Given the description of an element on the screen output the (x, y) to click on. 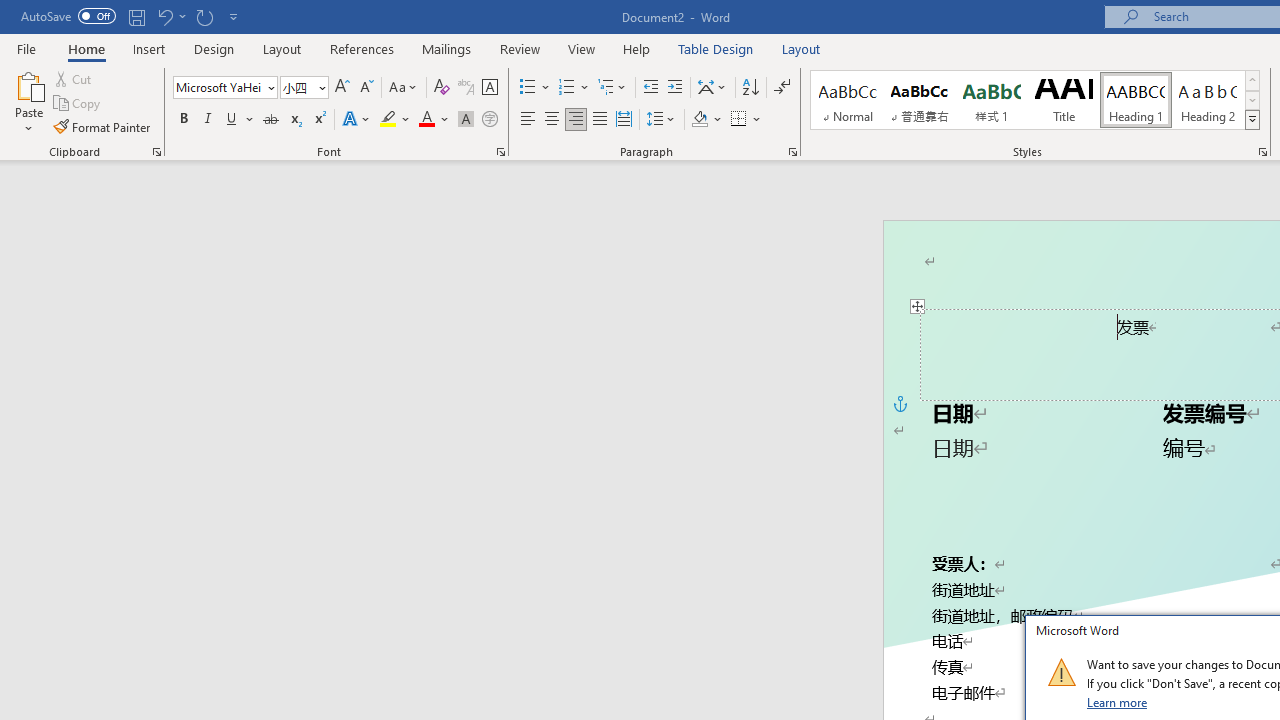
Learn more (1118, 702)
